Given the description of an element on the screen output the (x, y) to click on. 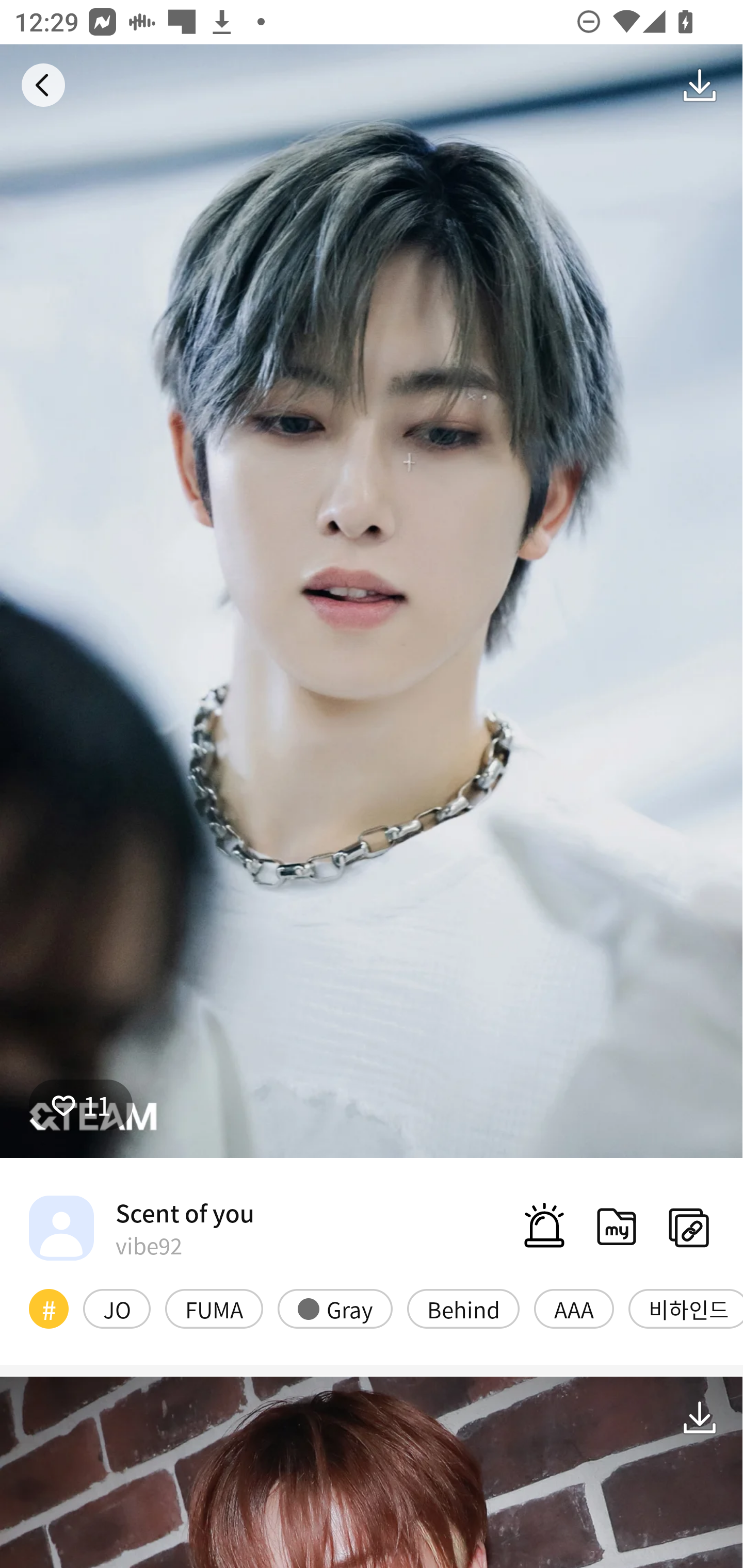
11 (80, 1104)
Scent of you vibe92 (141, 1227)
JO (116, 1308)
FUMA (213, 1308)
Gray (334, 1308)
Behind (463, 1308)
AAA (573, 1308)
비하인드 (685, 1308)
